Given the description of an element on the screen output the (x, y) to click on. 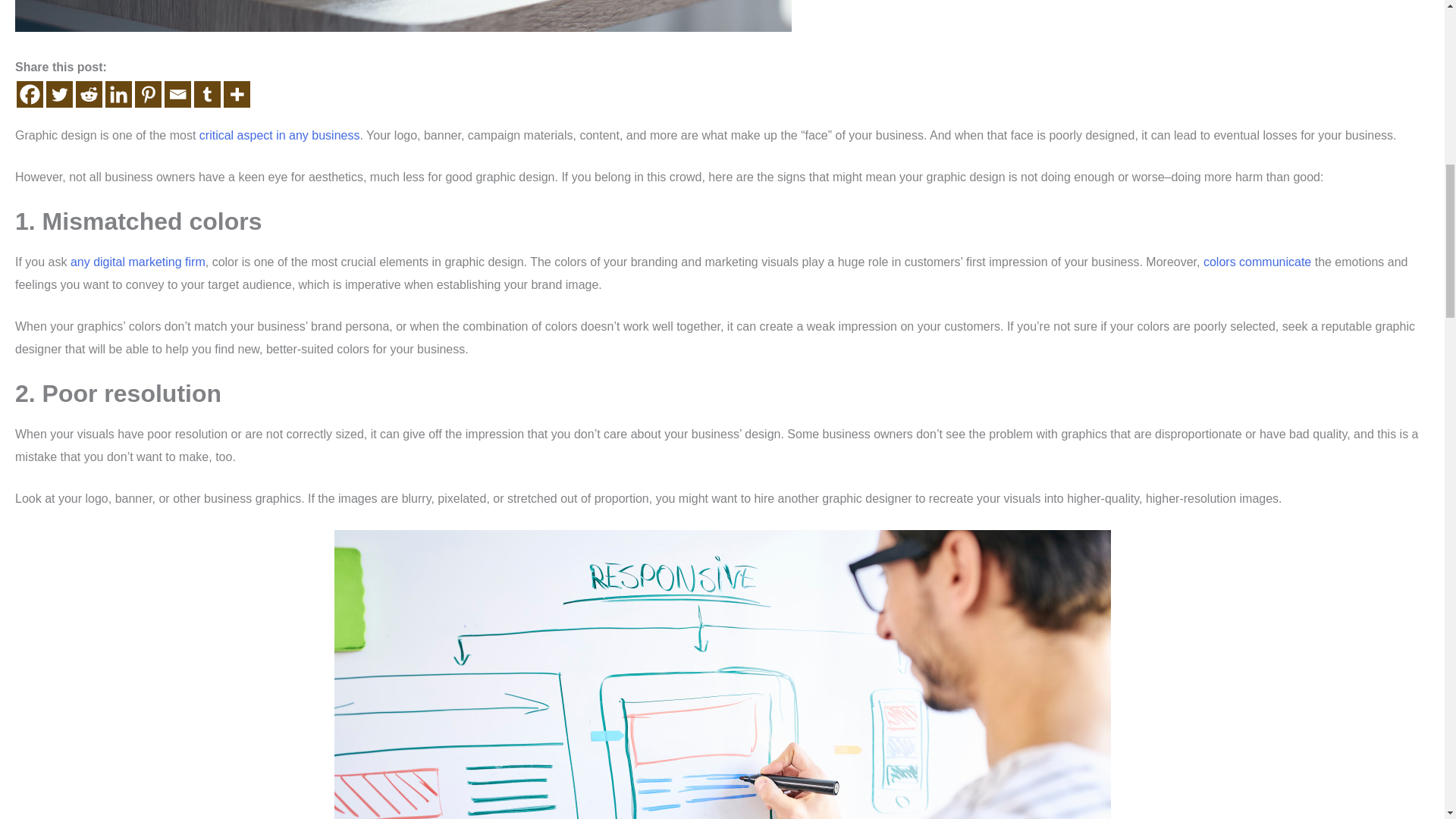
Email (177, 94)
colors communicate (1257, 261)
Linkedin (118, 94)
Tumblr (207, 94)
More (237, 94)
Twitter (59, 94)
Pinterest (148, 94)
Facebook (29, 94)
Reddit (88, 94)
any digital marketing firm (137, 261)
critical aspect in any business (279, 134)
